Given the description of an element on the screen output the (x, y) to click on. 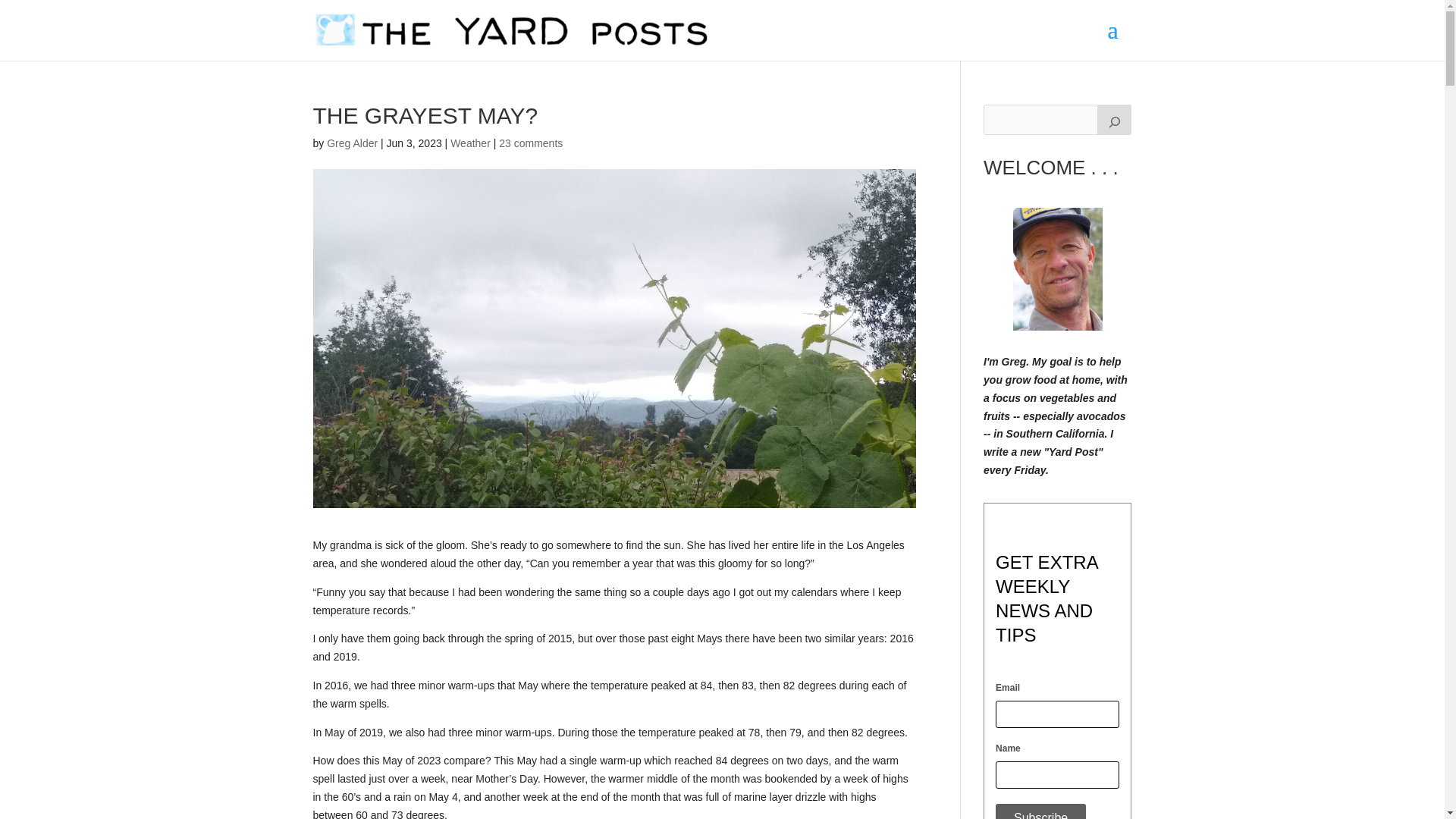
Greg Alder (351, 143)
23 comments (530, 143)
Subscribe (1040, 811)
Posts by Greg Alder (351, 143)
Weather (469, 143)
